Given the description of an element on the screen output the (x, y) to click on. 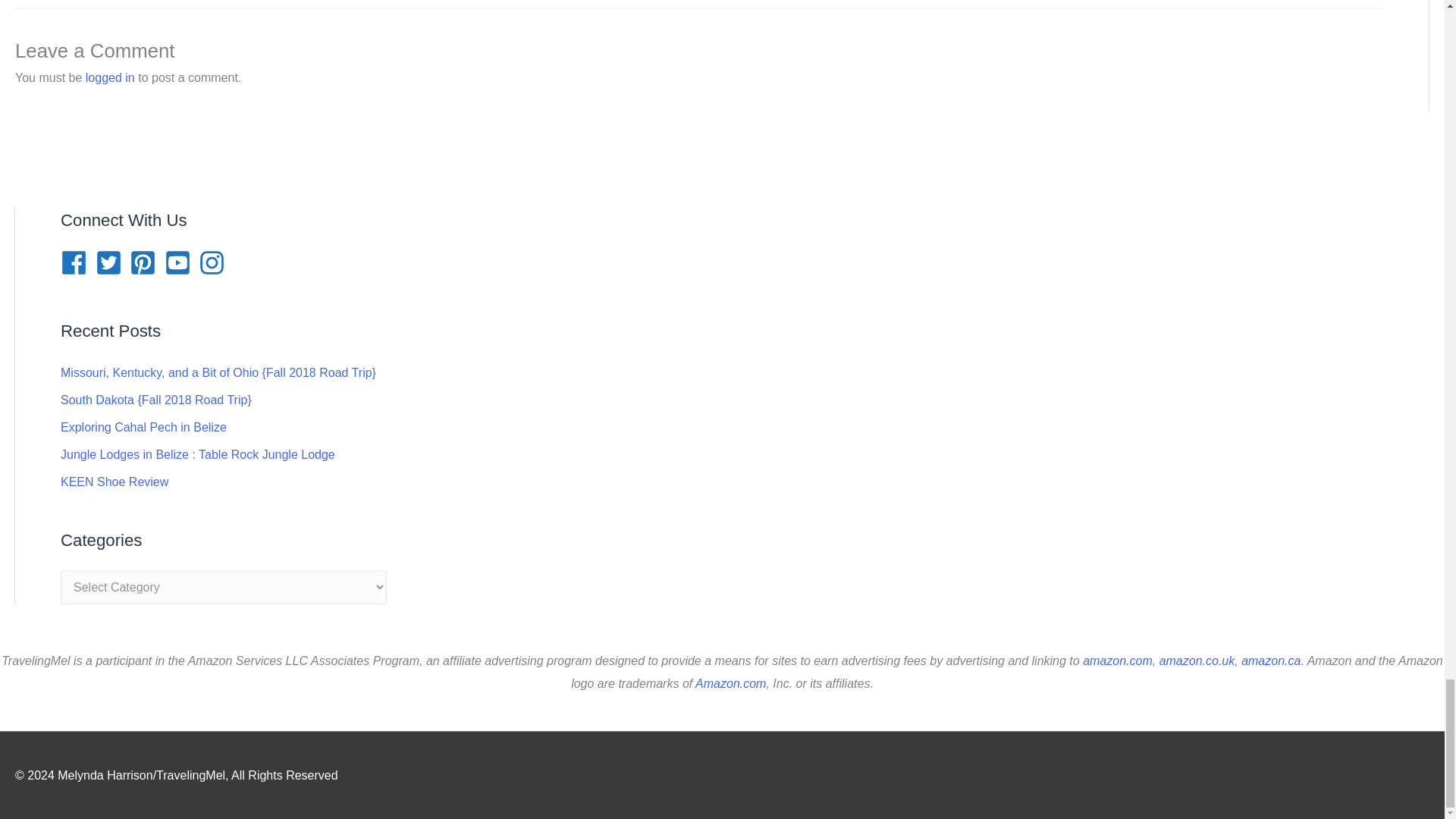
logged in (110, 77)
